Given the description of an element on the screen output the (x, y) to click on. 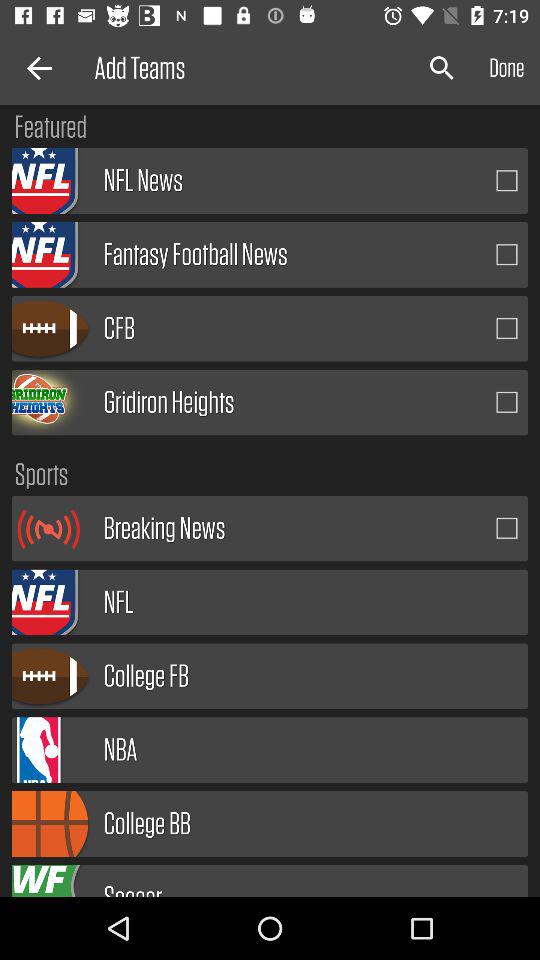
select fantasy football news (507, 254)
